Given the description of an element on the screen output the (x, y) to click on. 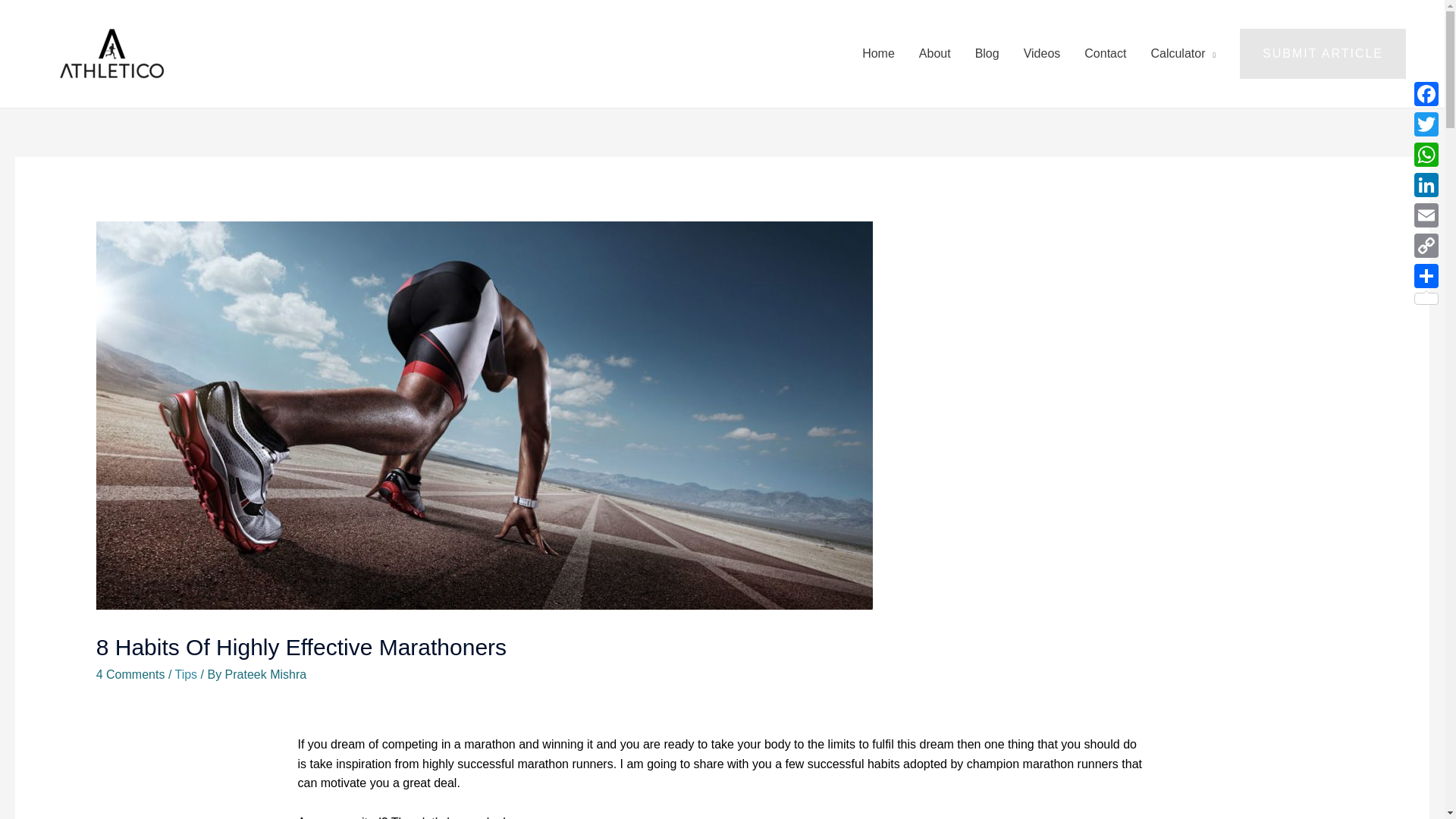
Blog (986, 53)
Contact (1104, 53)
Calculator (1182, 53)
SUBMIT ARTICLE (1323, 53)
Prateek Mishra (266, 674)
Tips (185, 674)
Videos (1042, 53)
4 Comments (130, 674)
View all posts by Prateek Mishra (266, 674)
About (934, 53)
